Given the description of an element on the screen output the (x, y) to click on. 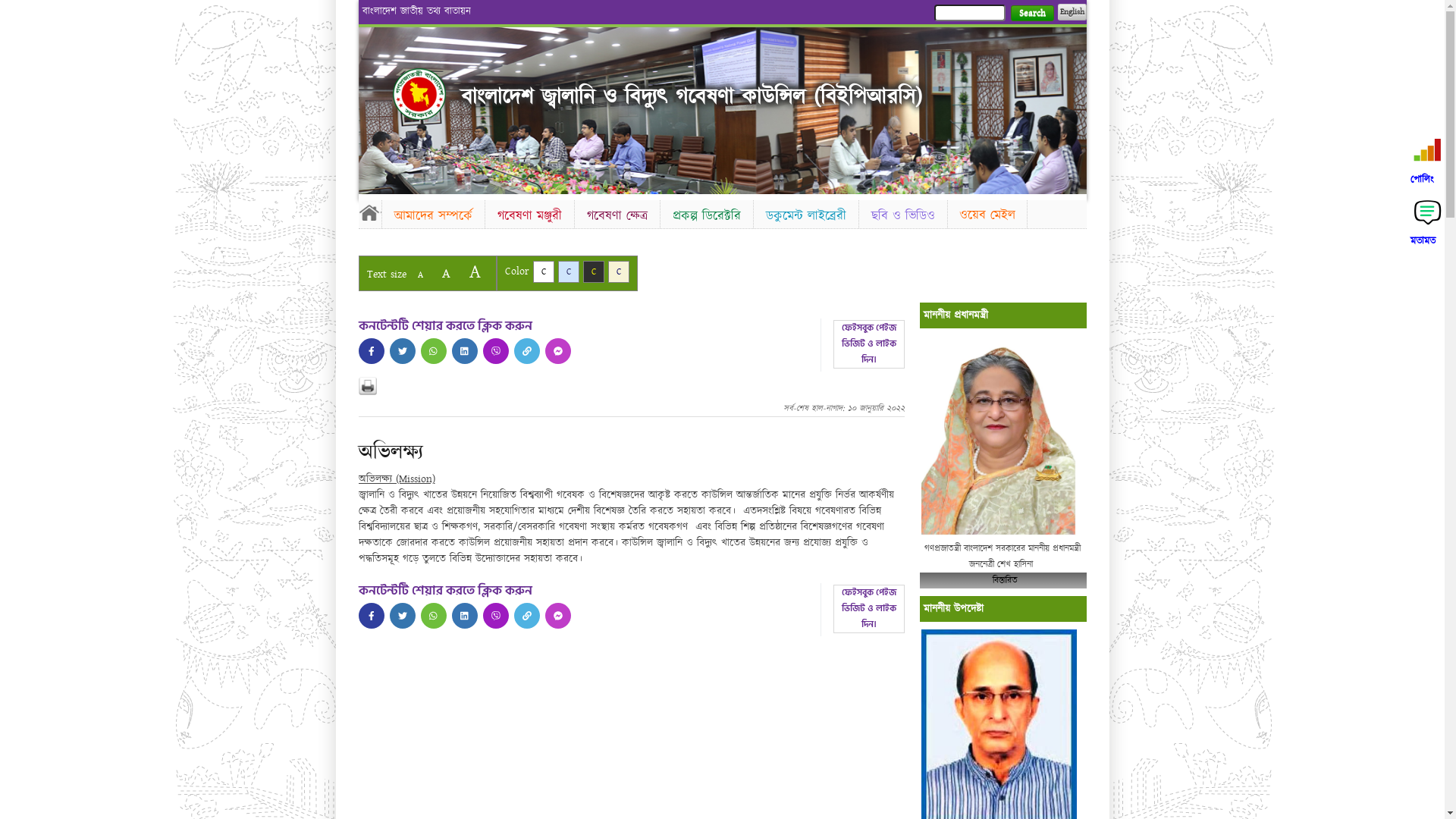
A Element type: text (474, 271)
Home Element type: hover (368, 211)
C Element type: text (618, 271)
English Element type: text (1071, 11)
A Element type: text (445, 273)
Search Element type: text (1031, 13)
C Element type: text (592, 271)
A Element type: text (419, 274)
Home Element type: hover (418, 93)
C Element type: text (542, 271)
C Element type: text (568, 271)
